Given the description of an element on the screen output the (x, y) to click on. 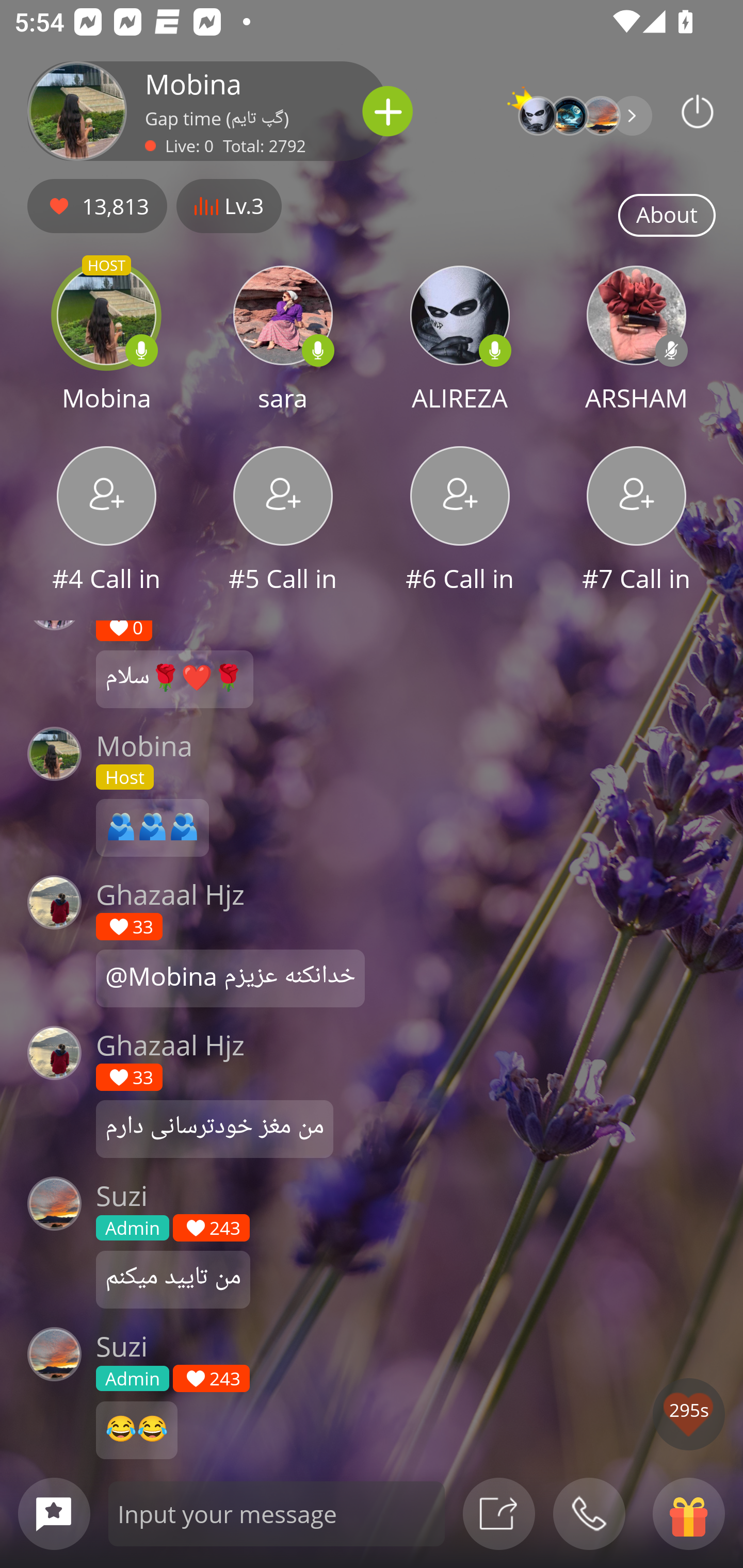
Podbean (697, 111)
About (666, 215)
HOST Mobina (105, 340)
sara (282, 340)
ALIREZA (459, 340)
ARSHAM (636, 340)
#4 Call in (105, 521)
#5 Call in (282, 521)
#6 Call in (459, 521)
#7 Call in (636, 521)
Input your message (276, 1513)
